Given the description of an element on the screen output the (x, y) to click on. 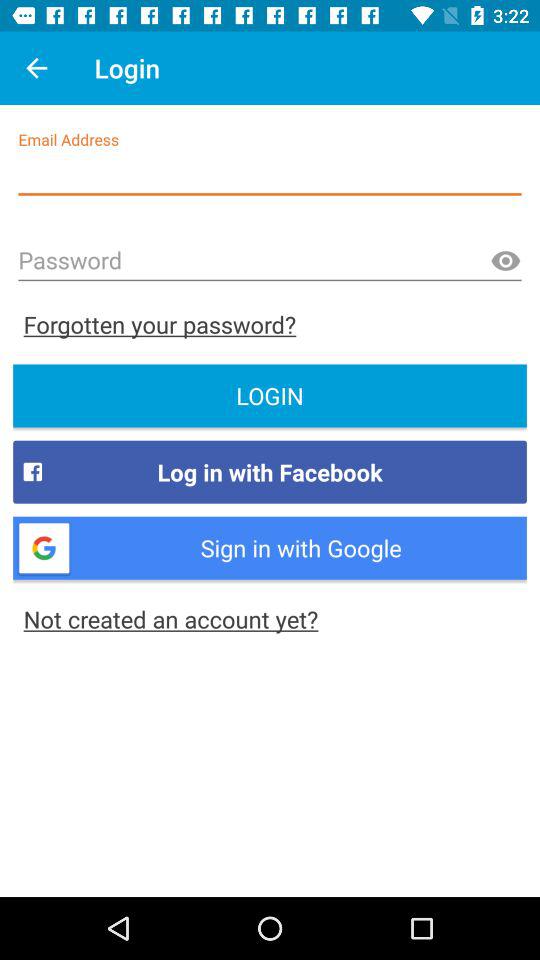
enter password (269, 261)
